Given the description of an element on the screen output the (x, y) to click on. 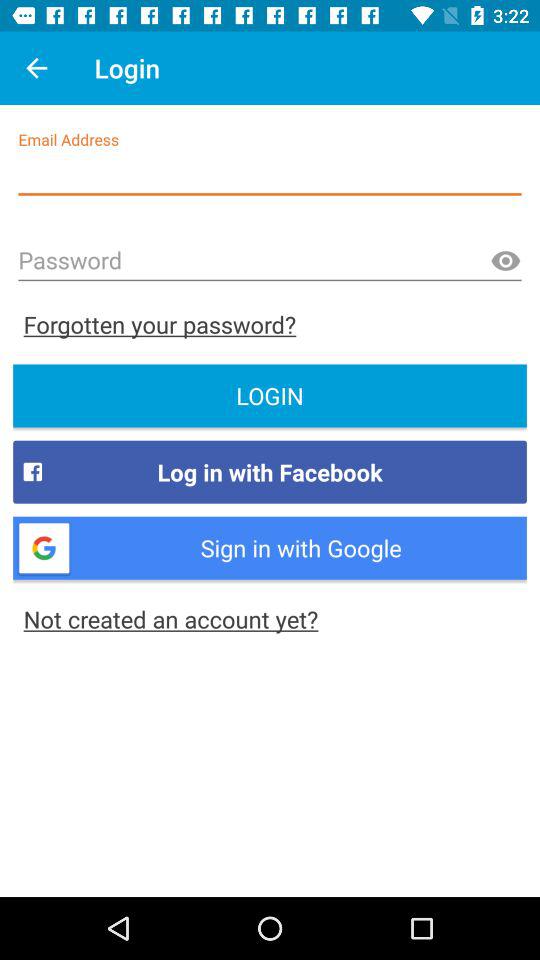
enter password (269, 261)
